Given the description of an element on the screen output the (x, y) to click on. 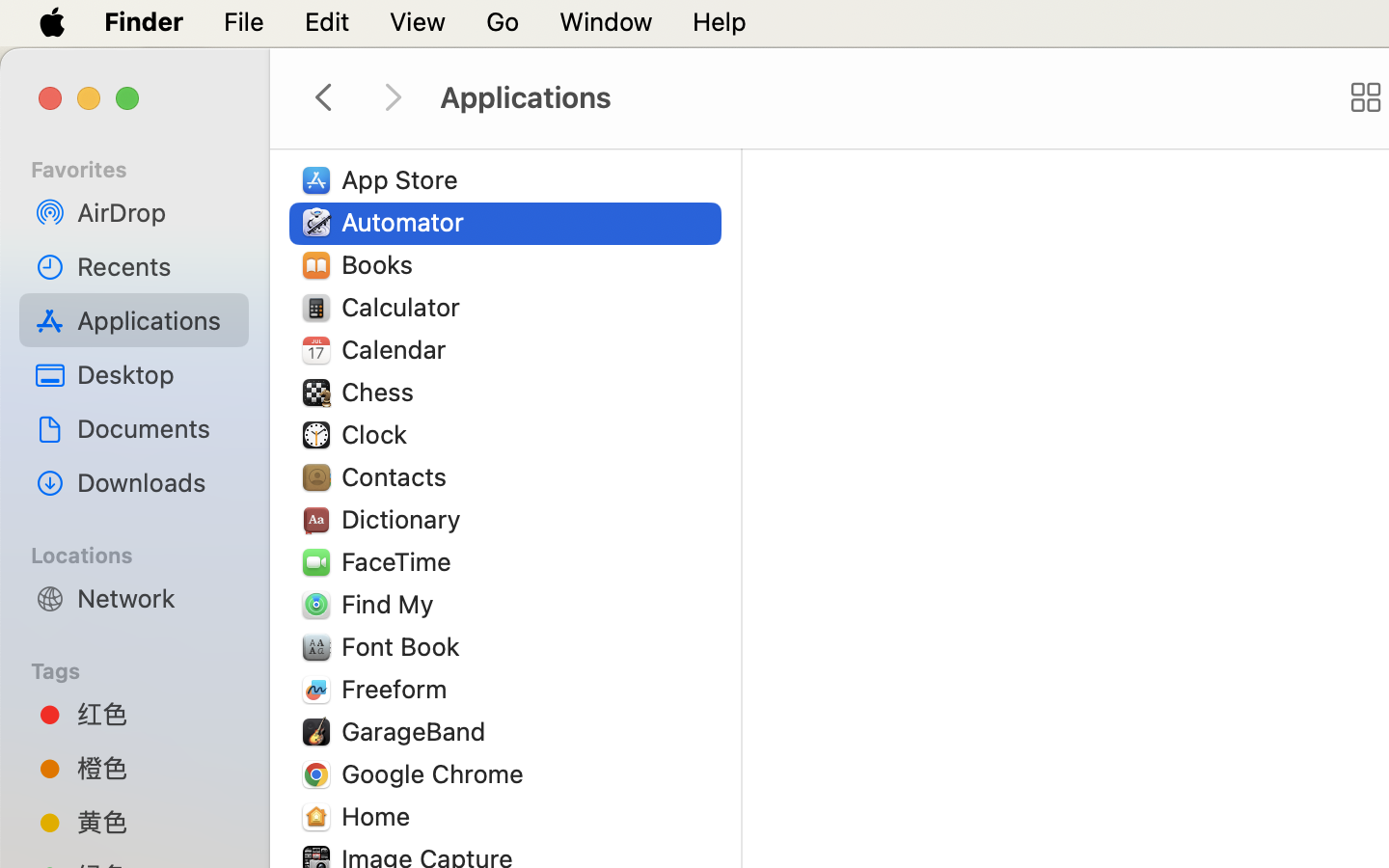
Calendar Element type: AXTextField (398, 348)
Chess Element type: AXTextField (381, 391)
Contacts Element type: AXTextField (398, 476)
黄色 Element type: AXStaticText (155, 821)
Find My Element type: AXTextField (391, 603)
